Given the description of an element on the screen output the (x, y) to click on. 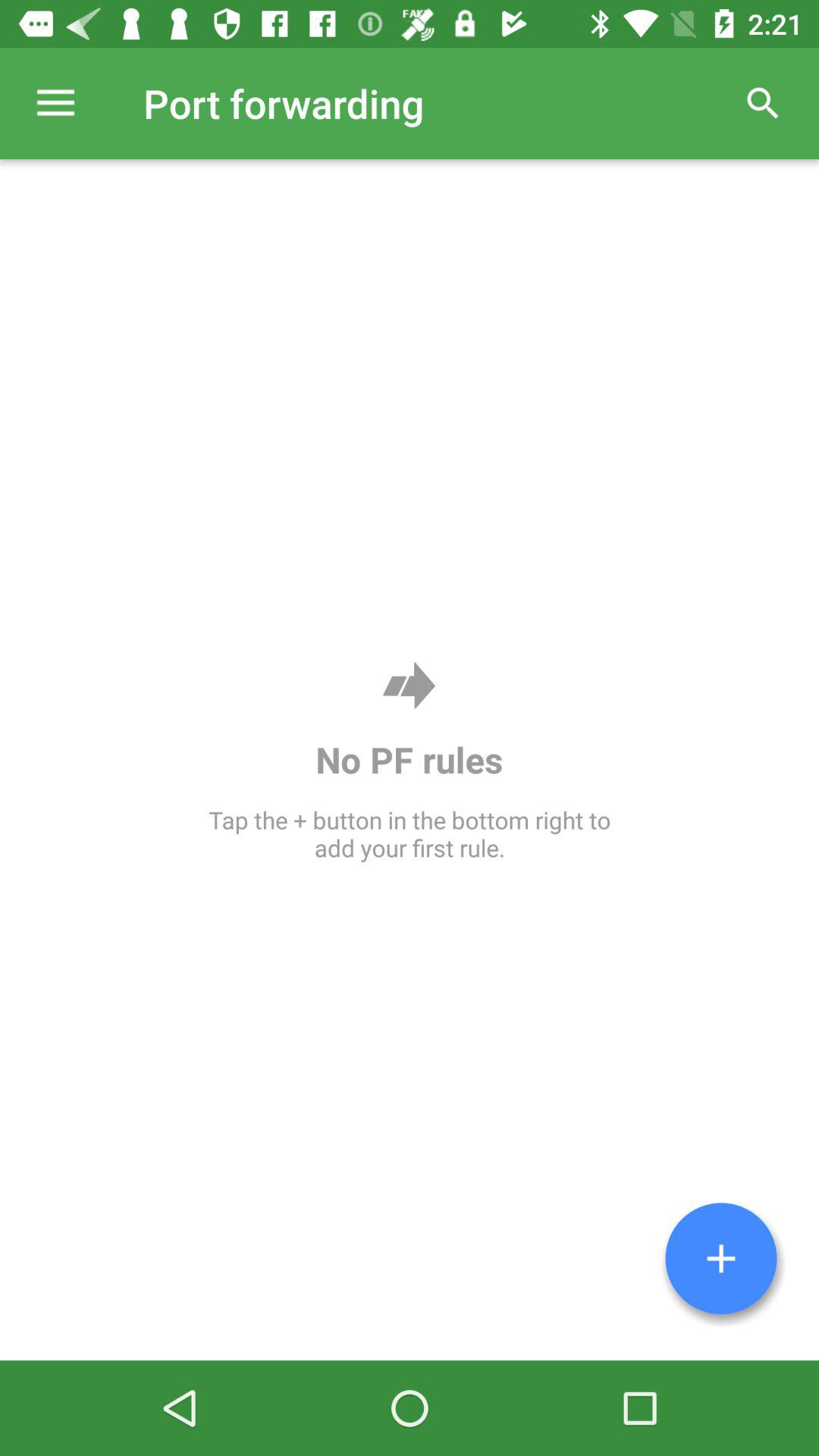
select icon at the top left corner (55, 103)
